Given the description of an element on the screen output the (x, y) to click on. 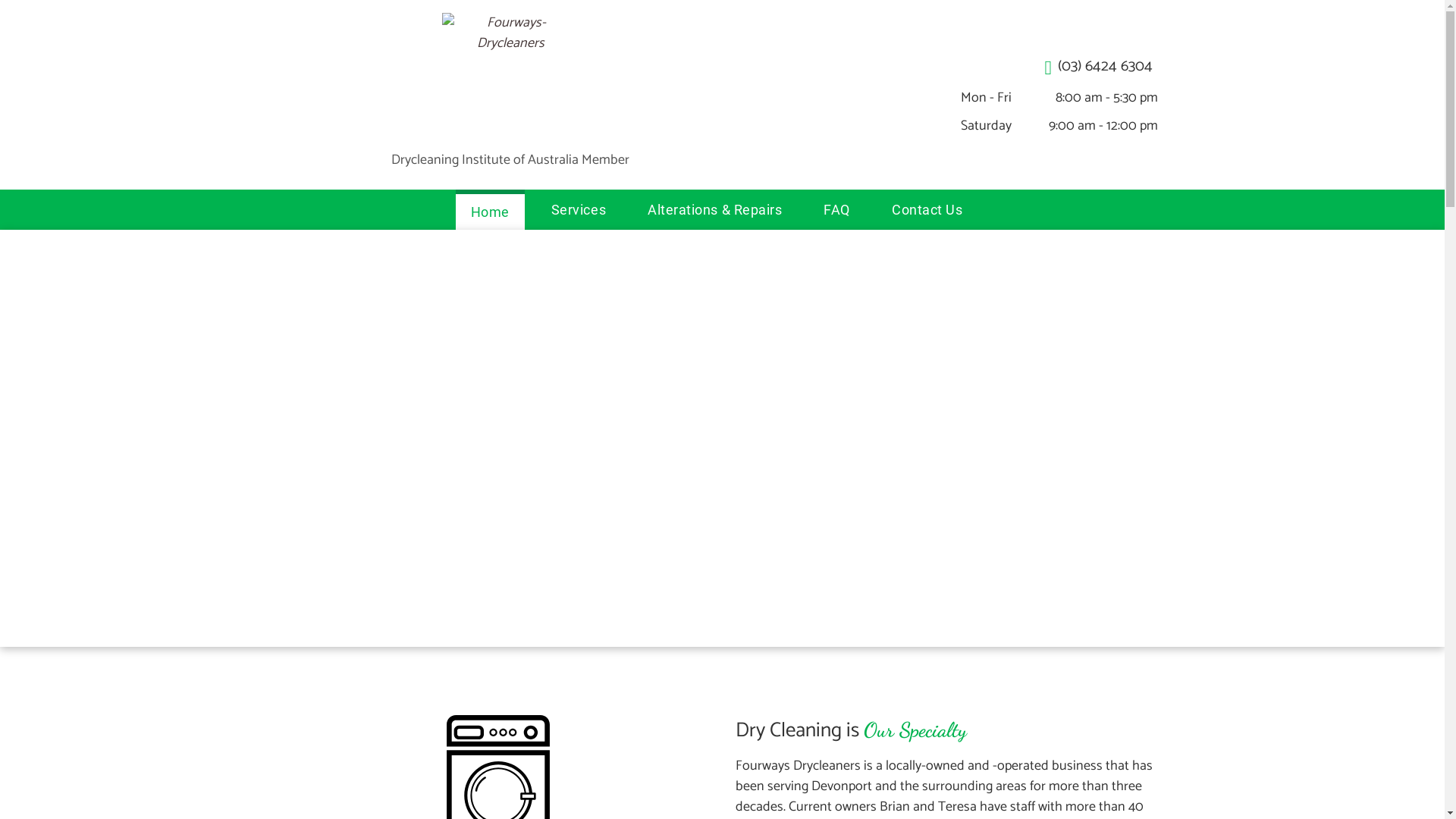
FAQ Element type: text (836, 209)
Alterations & Repairs Element type: text (714, 209)
Contact Us Element type: text (926, 209)
Home Element type: text (489, 209)
Services Element type: text (578, 209)
(03) 6424 6304 Element type: text (1085, 66)
